Given the description of an element on the screen output the (x, y) to click on. 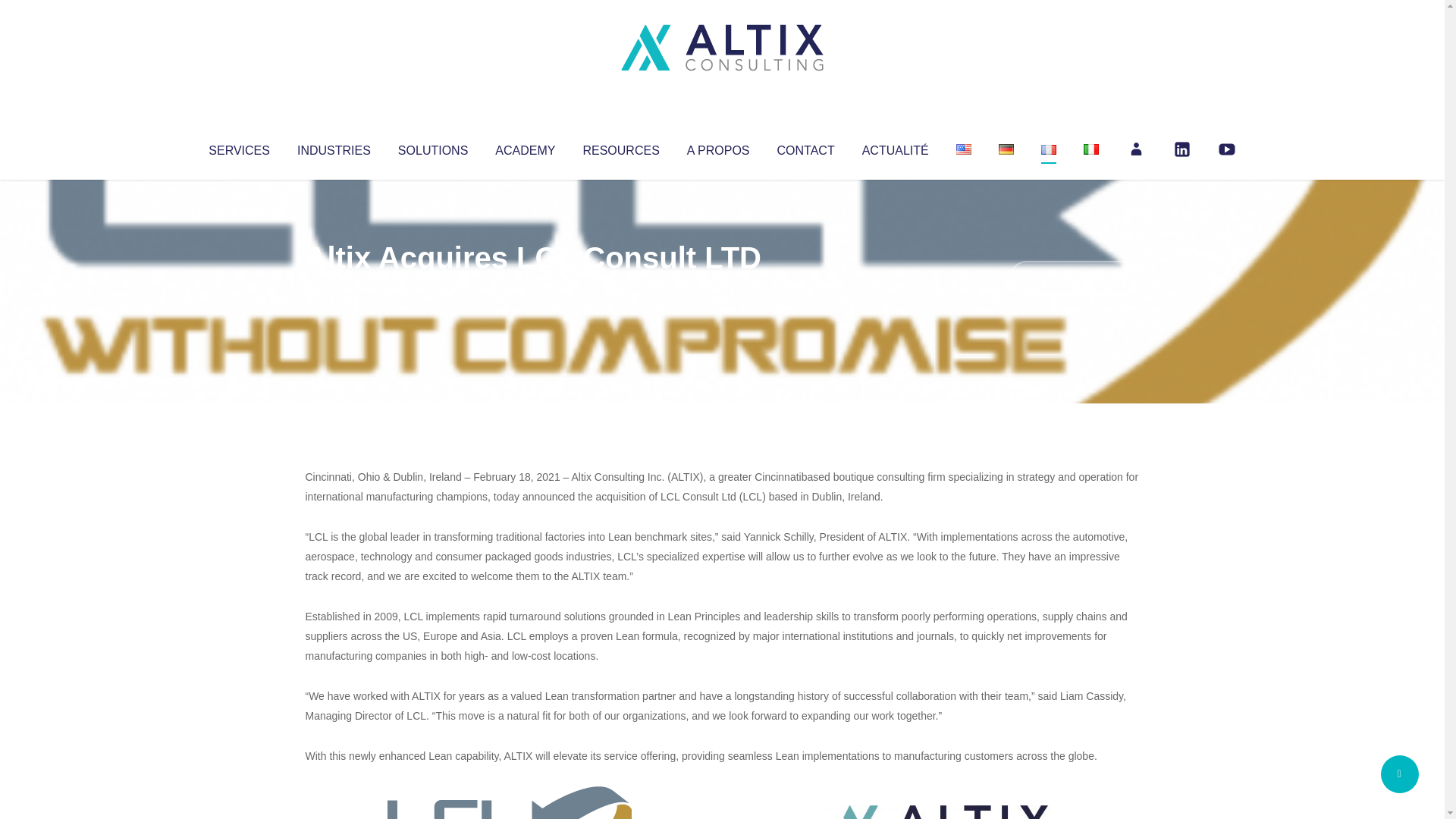
Altix (333, 287)
Articles par Altix (333, 287)
Uncategorized (530, 287)
ACADEMY (524, 146)
SOLUTIONS (432, 146)
INDUSTRIES (334, 146)
No Comments (1073, 278)
SERVICES (238, 146)
RESOURCES (620, 146)
A PROPOS (718, 146)
